Given the description of an element on the screen output the (x, y) to click on. 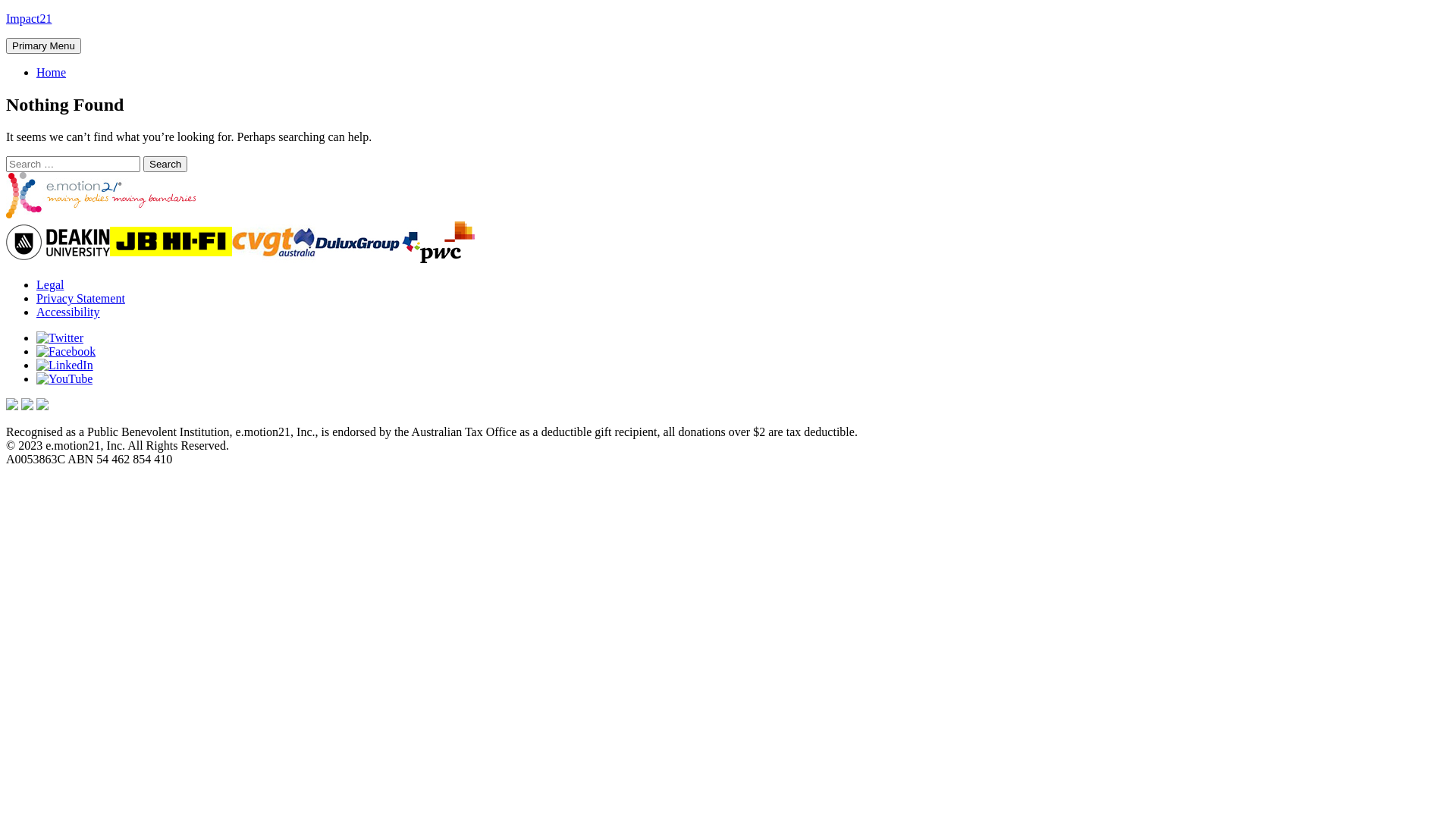
Legal Element type: text (49, 284)
Skip to content Element type: text (5, 11)
Accessibility Element type: text (68, 311)
Search Element type: text (165, 164)
Primary Menu Element type: text (43, 45)
Privacy Statement Element type: text (80, 297)
Impact21 Element type: text (28, 18)
Home Element type: text (50, 71)
